Given the description of an element on the screen output the (x, y) to click on. 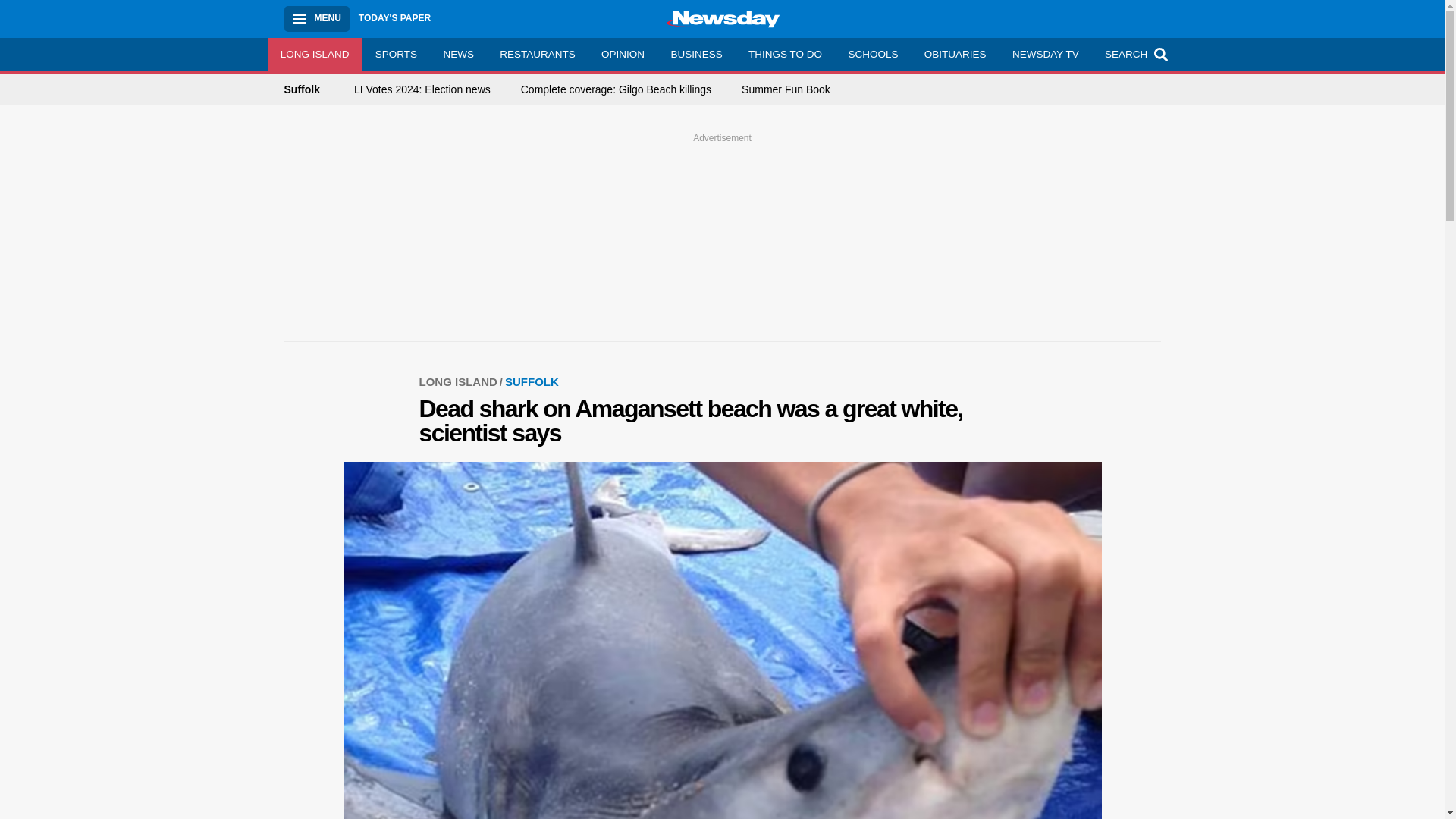
SPORTS (396, 54)
Suffolk (309, 89)
SUFFOLK (532, 381)
LI Votes 2024: Election news (421, 89)
NEWS (457, 54)
SEARCH (1134, 54)
LONG ISLAND (313, 54)
BUSINESS (696, 54)
NEWSDAY TV (1045, 54)
OBITUARIES (954, 54)
